Given the description of an element on the screen output the (x, y) to click on. 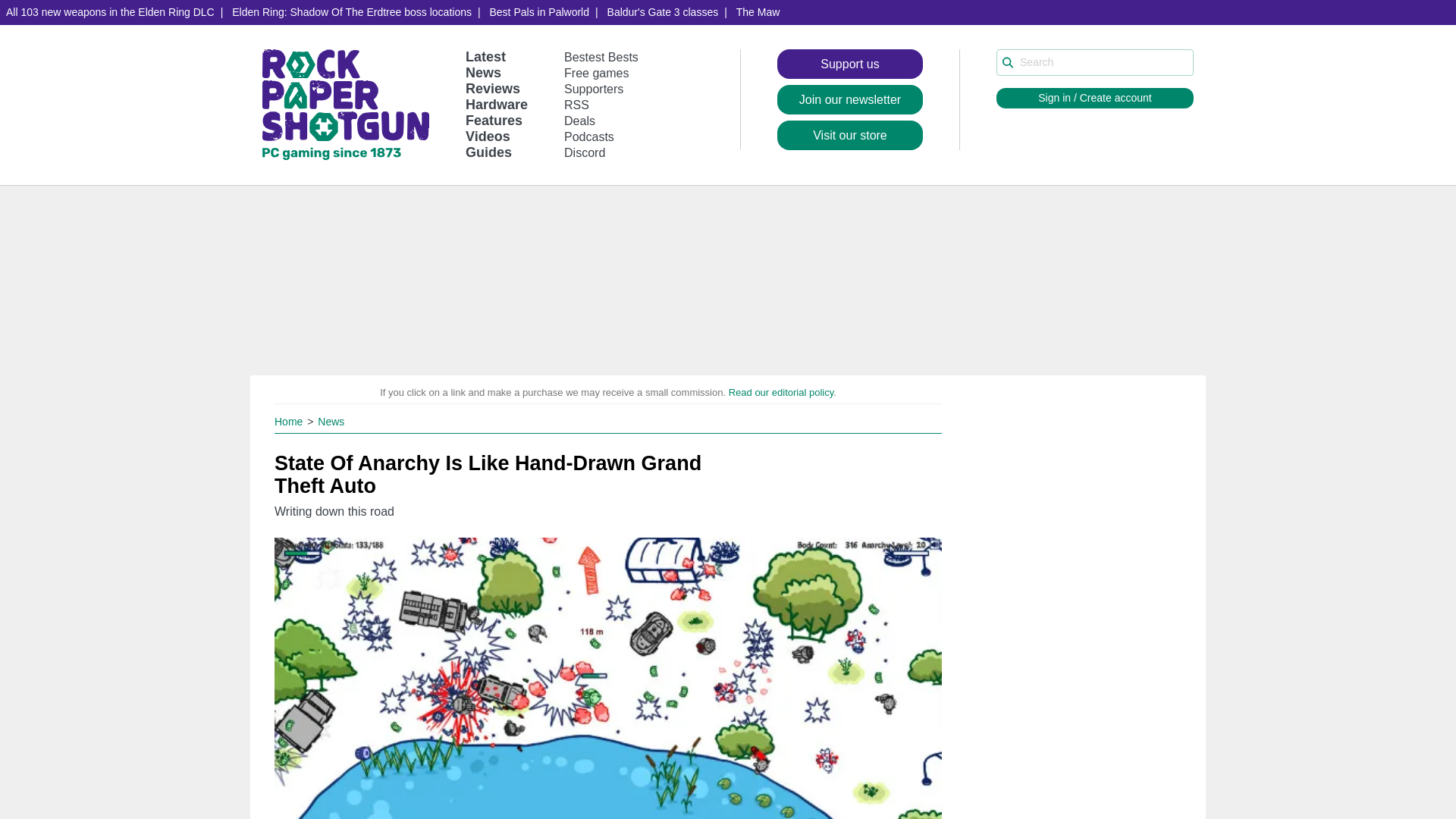
Reviews (492, 88)
Baldur's Gate 3 classes (663, 12)
Latest (485, 56)
Guides (488, 151)
Guides (488, 151)
Bestest Bests (601, 56)
Features (493, 120)
Home (290, 421)
Visit our store (850, 134)
Podcasts (589, 136)
Elden Ring: Shadow Of The Erdtree boss locations (351, 12)
Videos (488, 136)
Supporters (593, 88)
Videos (488, 136)
Baldur's Gate 3 classes (663, 12)
